Given the description of an element on the screen output the (x, y) to click on. 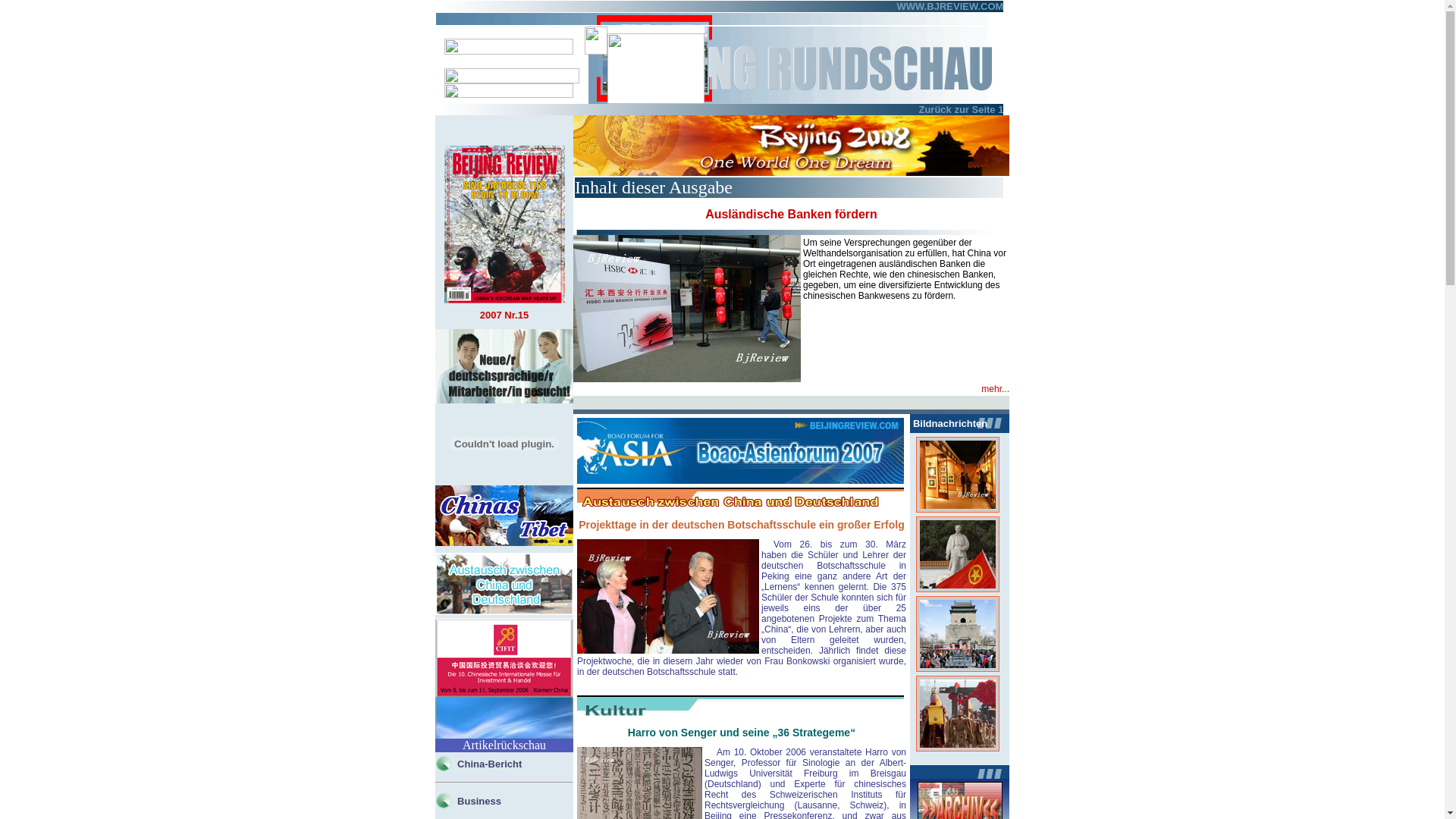
China-Bericht Element type: text (489, 762)
mehr... Element type: text (995, 388)
Business Element type: text (479, 799)
